Given the description of an element on the screen output the (x, y) to click on. 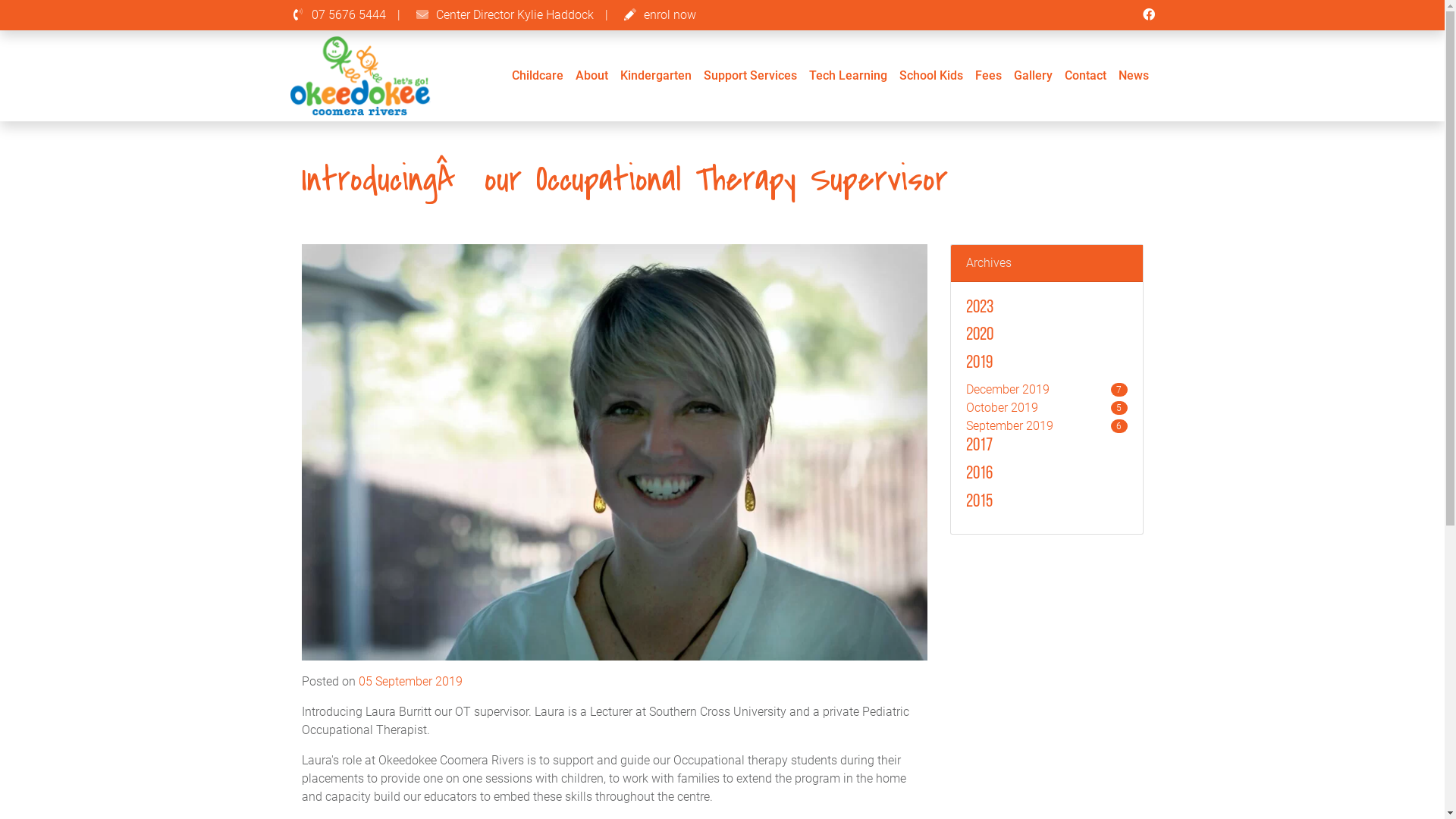
2017 Element type: text (1046, 446)
Tech Learning Element type: text (847, 75)
Support Services Element type: text (750, 75)
News Element type: text (1132, 75)
2020 Element type: text (1046, 335)
Contact Element type: text (1085, 75)
2023 Element type: text (1046, 308)
School Kids Element type: text (931, 75)
Gallery Element type: text (1032, 75)
September 2019
6 Element type: text (1046, 426)
Childcare Element type: text (536, 75)
2016 Element type: text (1046, 474)
Fees Element type: text (988, 75)
2015 Element type: text (1046, 502)
Center Director Kylie Haddock Element type: text (514, 14)
December 2019
7 Element type: text (1046, 389)
05 September 2019 Element type: text (409, 681)
About Element type: text (590, 75)
October 2019
5 Element type: text (1046, 407)
enrol now Element type: text (658, 14)
Kindergarten Element type: text (655, 75)
2019 Element type: text (1046, 363)
